Given the description of an element on the screen output the (x, y) to click on. 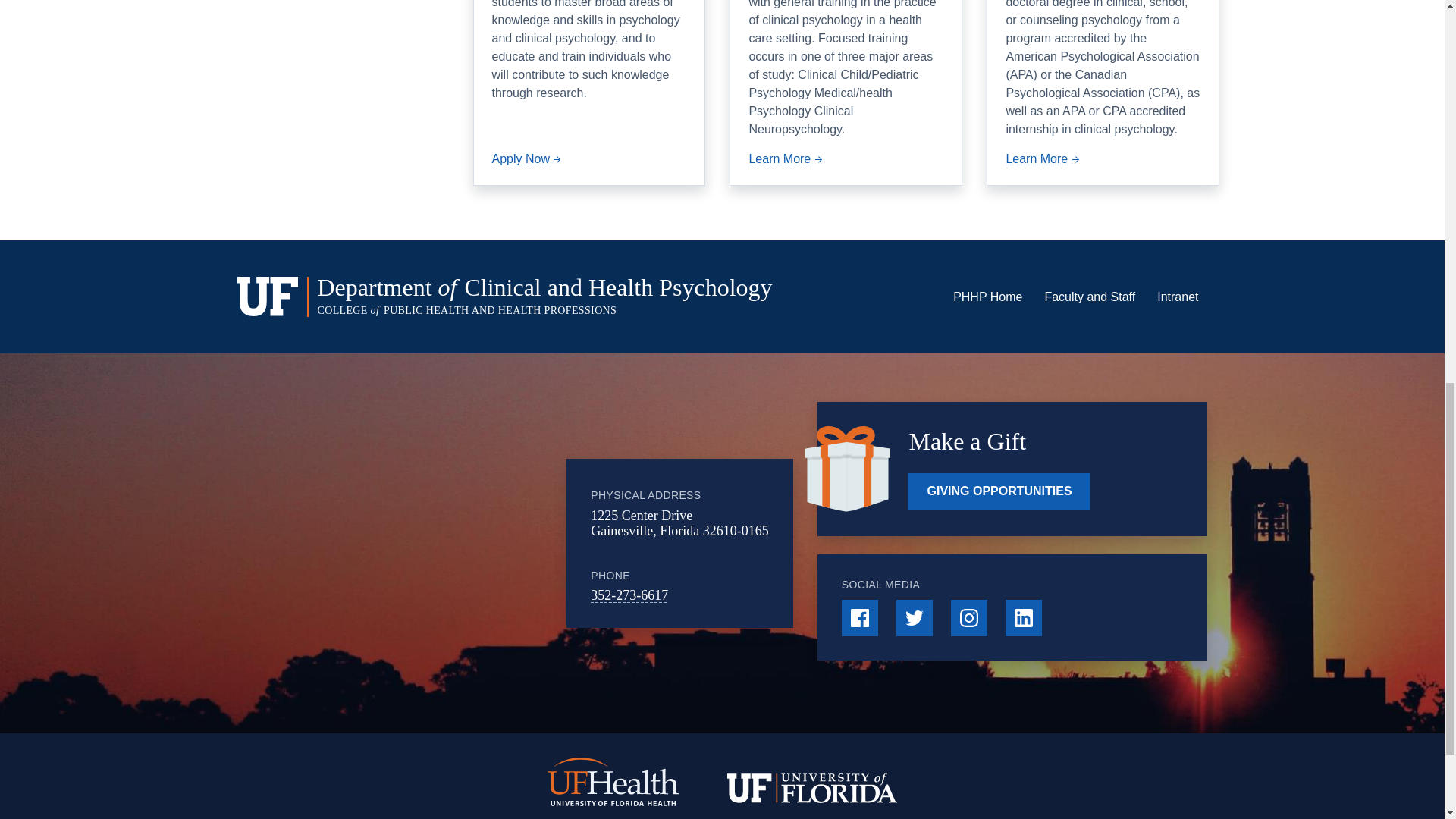
Faculty and Staff (1089, 296)
Apply Now (528, 158)
Intranet (1177, 296)
Learn More (1043, 158)
PHHP Home (987, 296)
Learn More (786, 158)
Google Maps Embed (449, 543)
352-273-6617 (629, 595)
